Given the description of an element on the screen output the (x, y) to click on. 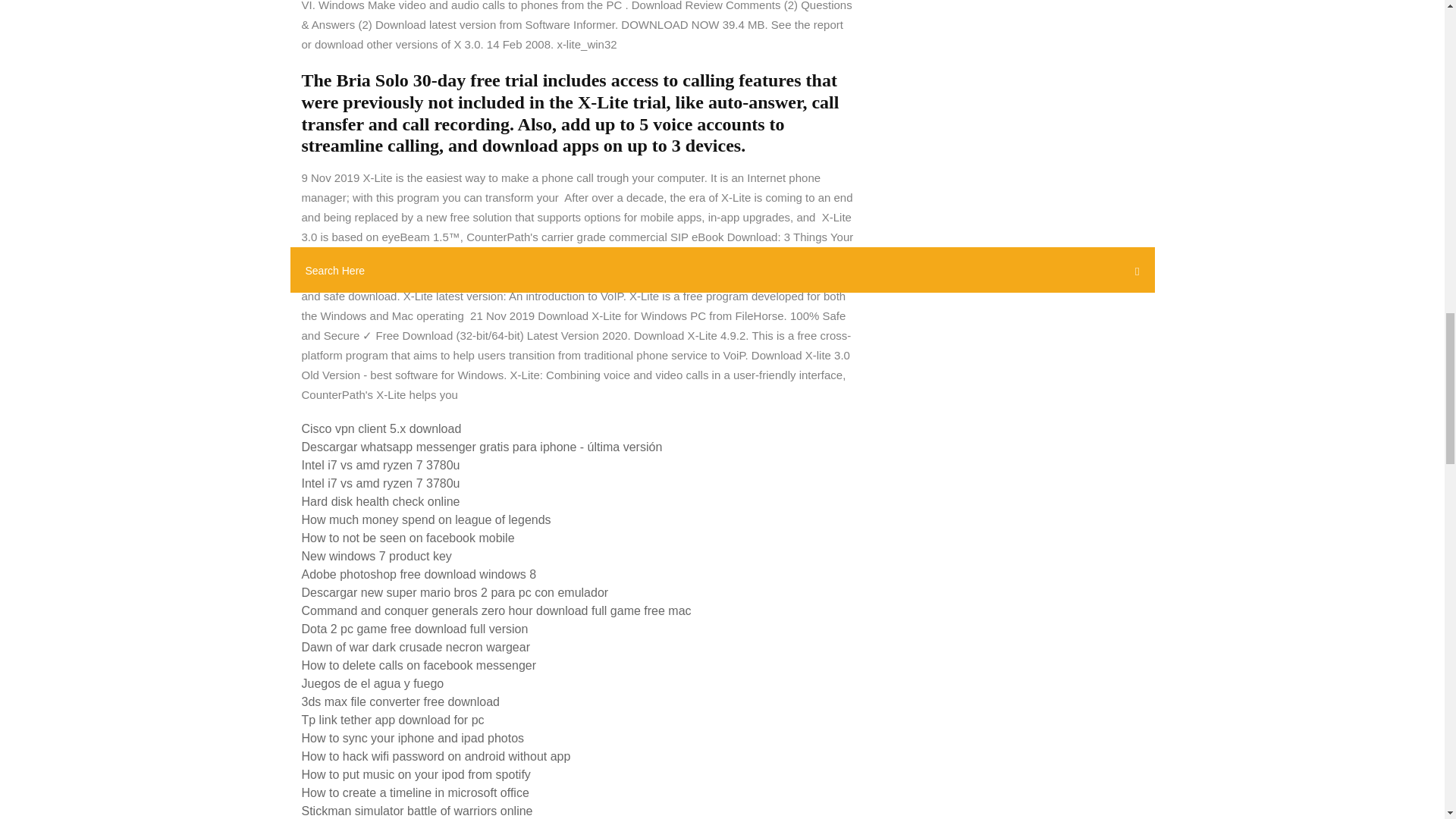
Adobe photoshop free download windows 8 (419, 574)
New windows 7 product key (376, 555)
How to create a timeline in microsoft office (415, 792)
How to put music on your ipod from spotify (416, 774)
Cisco vpn client 5.x download (381, 428)
How to delete calls on facebook messenger (419, 665)
How to not be seen on facebook mobile (408, 537)
How to sync your iphone and ipad photos (412, 738)
Intel i7 vs amd ryzen 7 3780u (380, 482)
Tp link tether app download for pc (392, 719)
Juegos de el agua y fuego (372, 683)
Intel i7 vs amd ryzen 7 3780u (380, 464)
3ds max file converter free download (400, 701)
Descargar new super mario bros 2 para pc con emulador (454, 592)
